Given the description of an element on the screen output the (x, y) to click on. 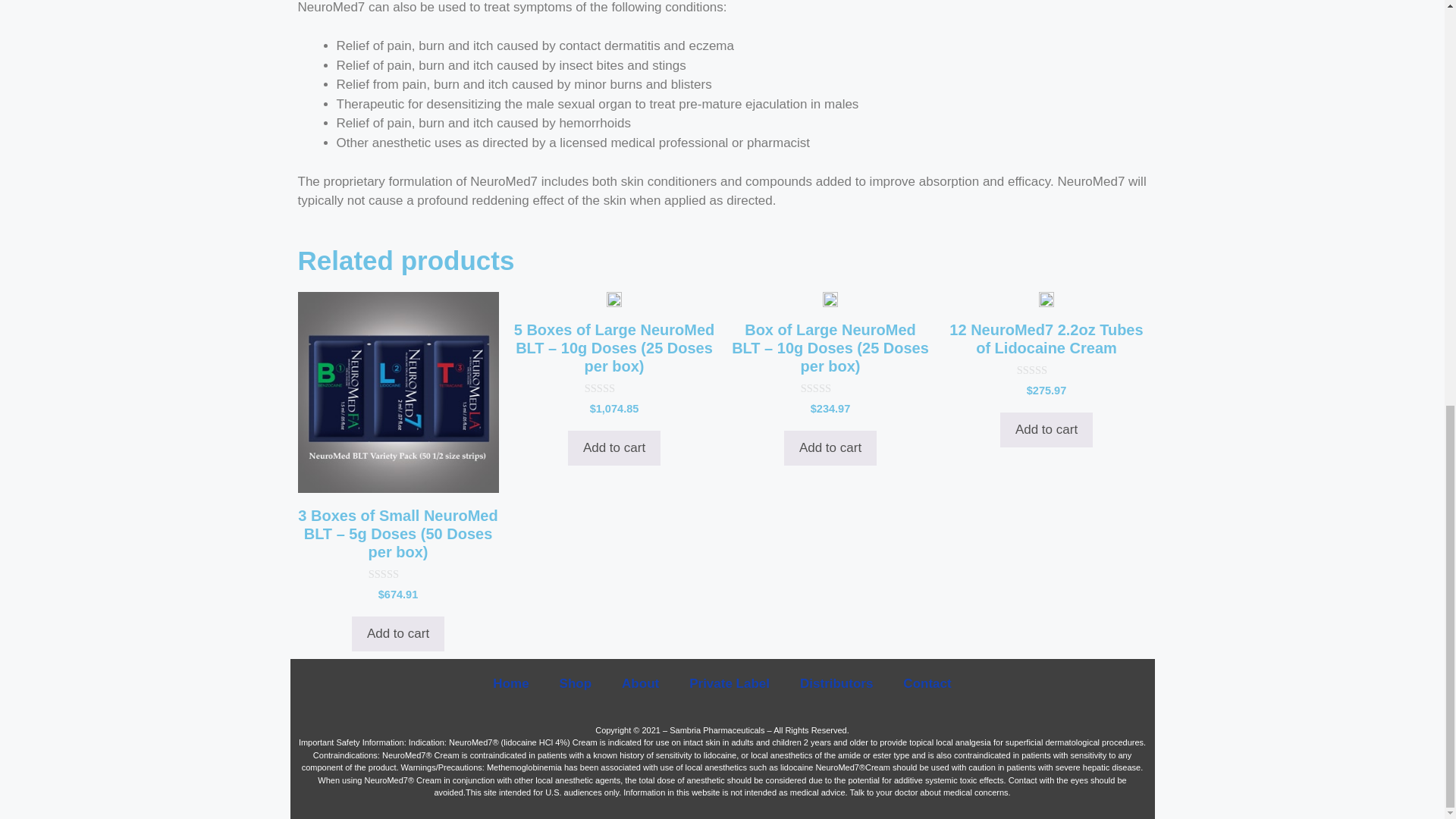
Not yet rated (1046, 369)
Add to cart (614, 448)
Not yet rated (615, 388)
Add to cart (830, 448)
Add to cart (398, 633)
Not yet rated (398, 573)
Not yet rated (830, 388)
